Given the description of an element on the screen output the (x, y) to click on. 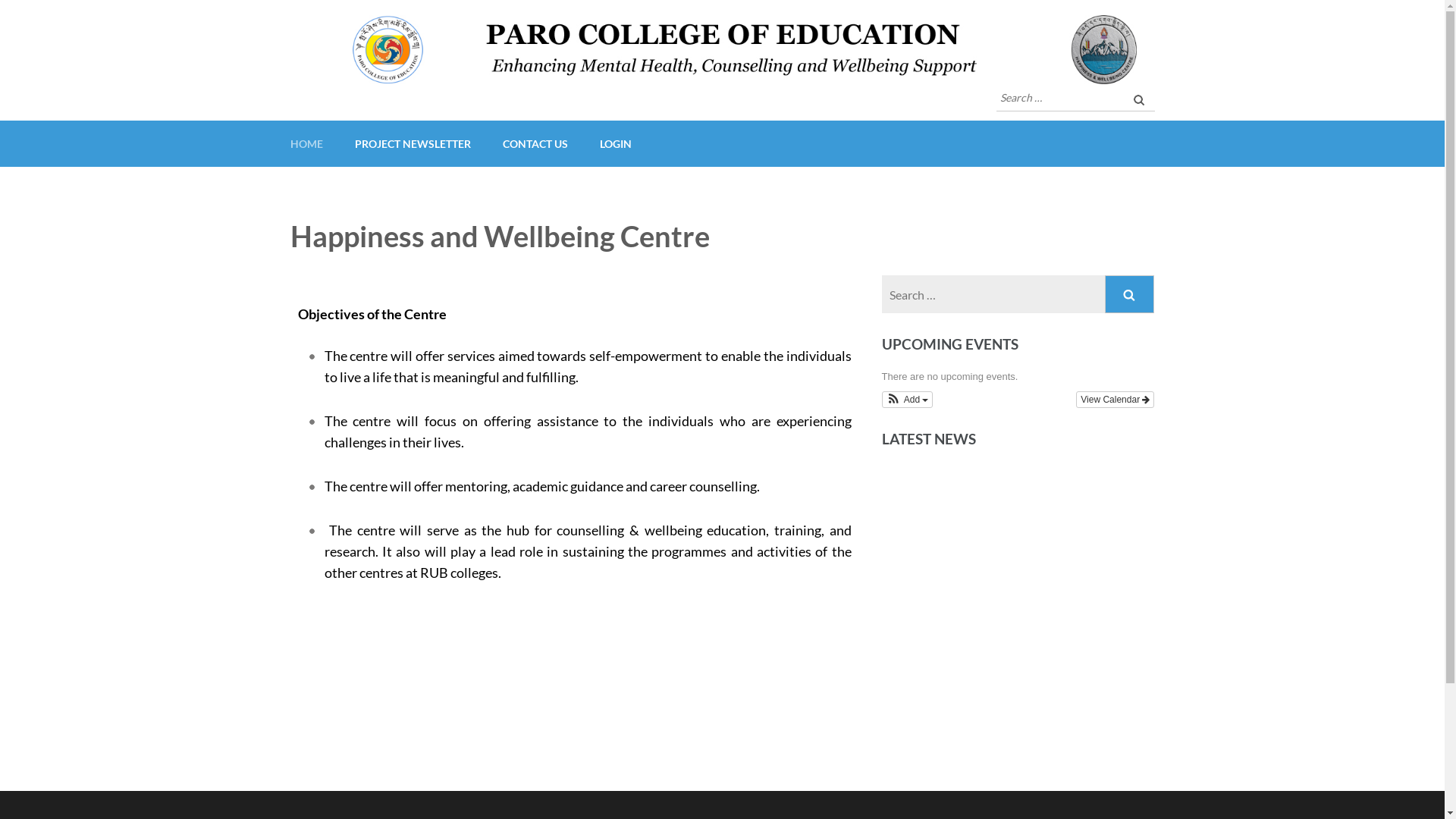
PROJECT NEWSLETTER Element type: text (412, 143)
Paro College of Education Element type: text (429, 97)
LOGIN Element type: text (614, 143)
CONTACT US Element type: text (534, 143)
HOME Element type: text (305, 143)
Search Element type: text (1129, 294)
View Calendar Element type: text (1115, 399)
Search Element type: text (1138, 98)
